Given the description of an element on the screen output the (x, y) to click on. 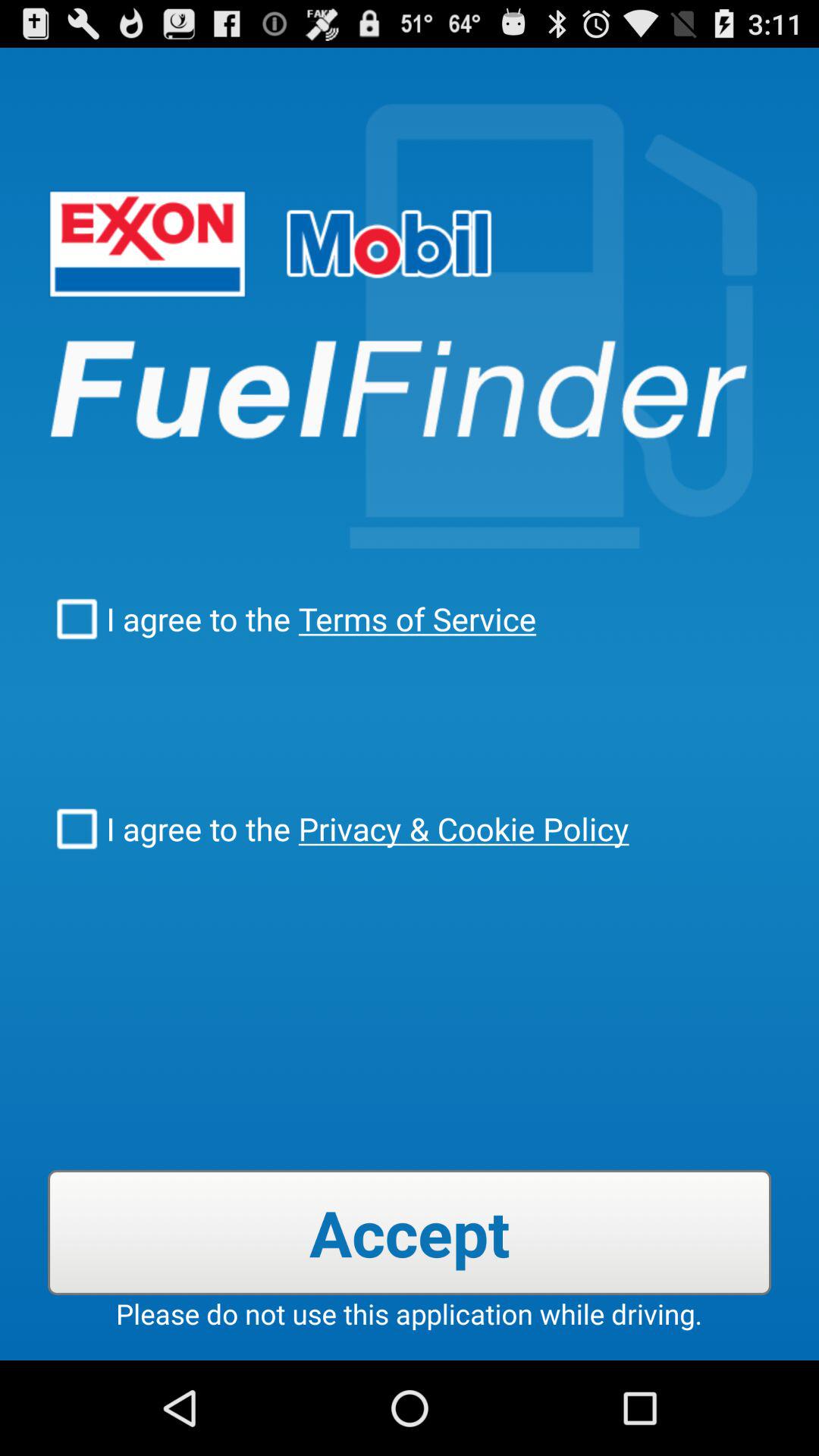
launch the icon above i agree to icon (413, 618)
